Given the description of an element on the screen output the (x, y) to click on. 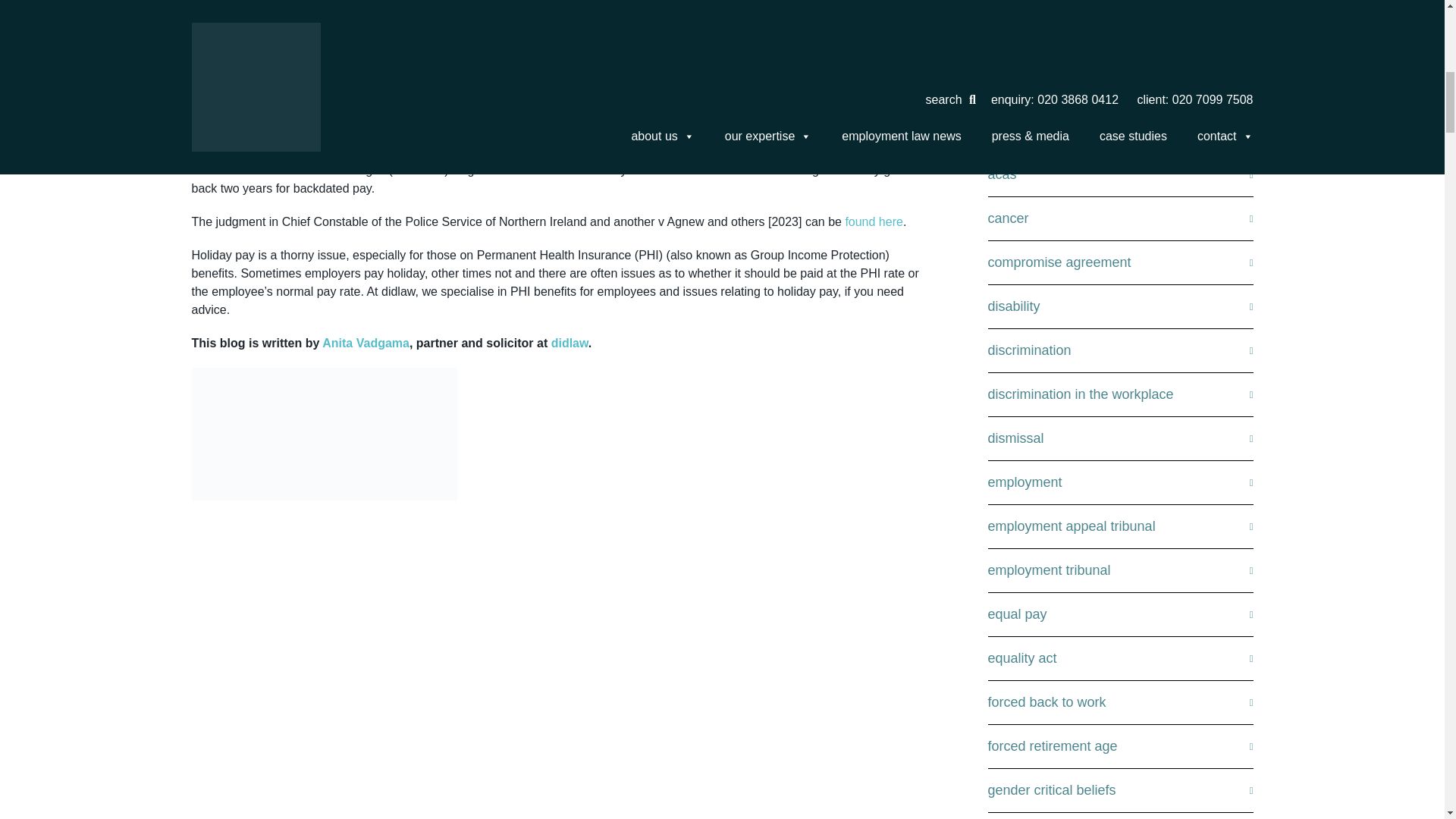
Discrimination in the Workplace (1119, 394)
Compromise Agreement (1119, 262)
Forced Back to Work (1119, 702)
Discrimination (1119, 350)
Employment Appeal Tribunal (1119, 526)
Cancer (1119, 218)
Employment (1119, 482)
Equality Act (1119, 658)
Equal Pay (1119, 614)
ACAS (1119, 174)
dismissal (1119, 438)
Disability (1119, 306)
Book Your FREE Consultation Call (1119, 15)
Employment Tribunal (1119, 570)
